Given the description of an element on the screen output the (x, y) to click on. 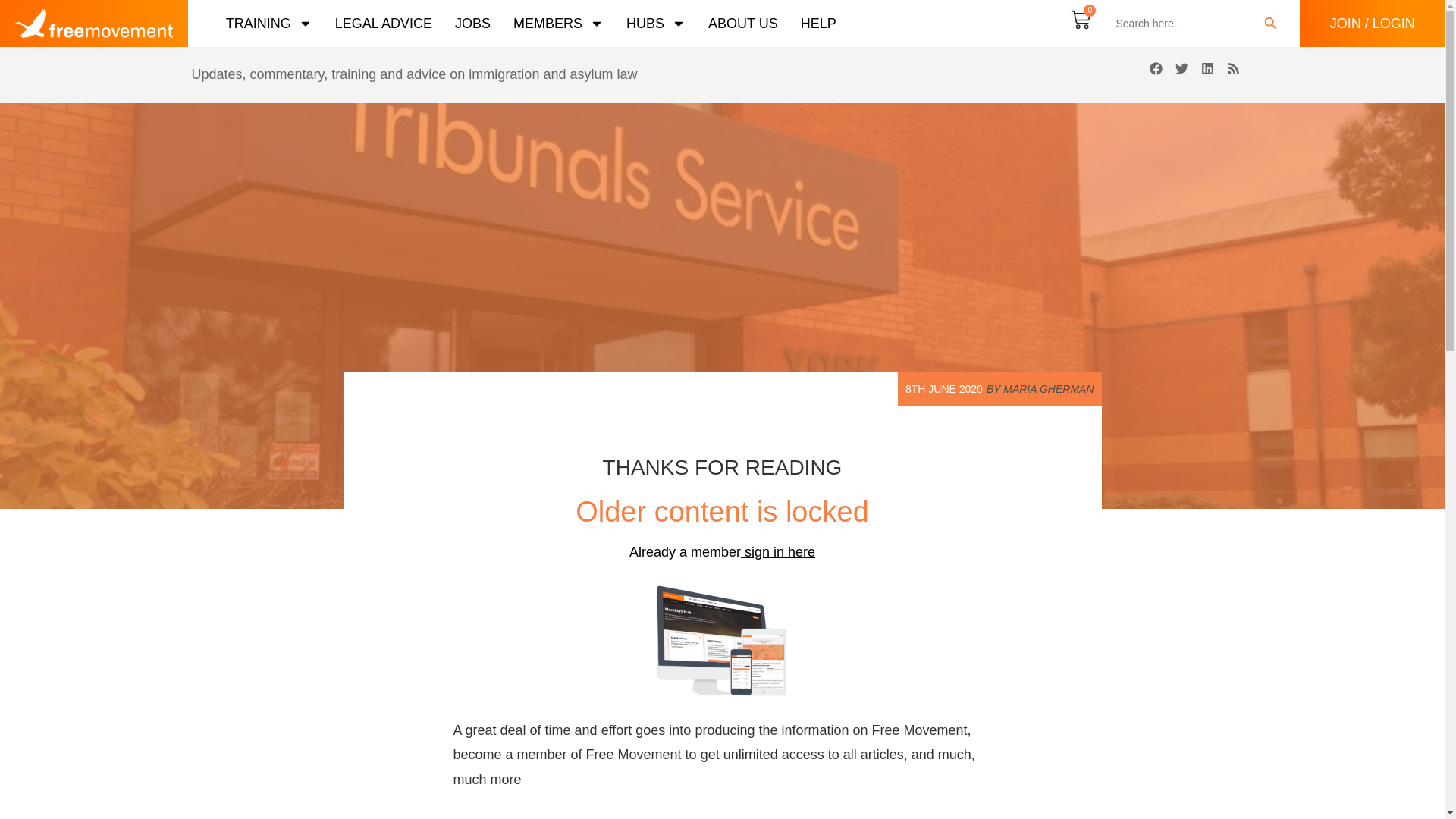
LEGAL ADVICE (383, 22)
MEMBERS (558, 22)
ABOUT US (742, 22)
TRAINING (269, 22)
HUBS (655, 22)
